Given the description of an element on the screen output the (x, y) to click on. 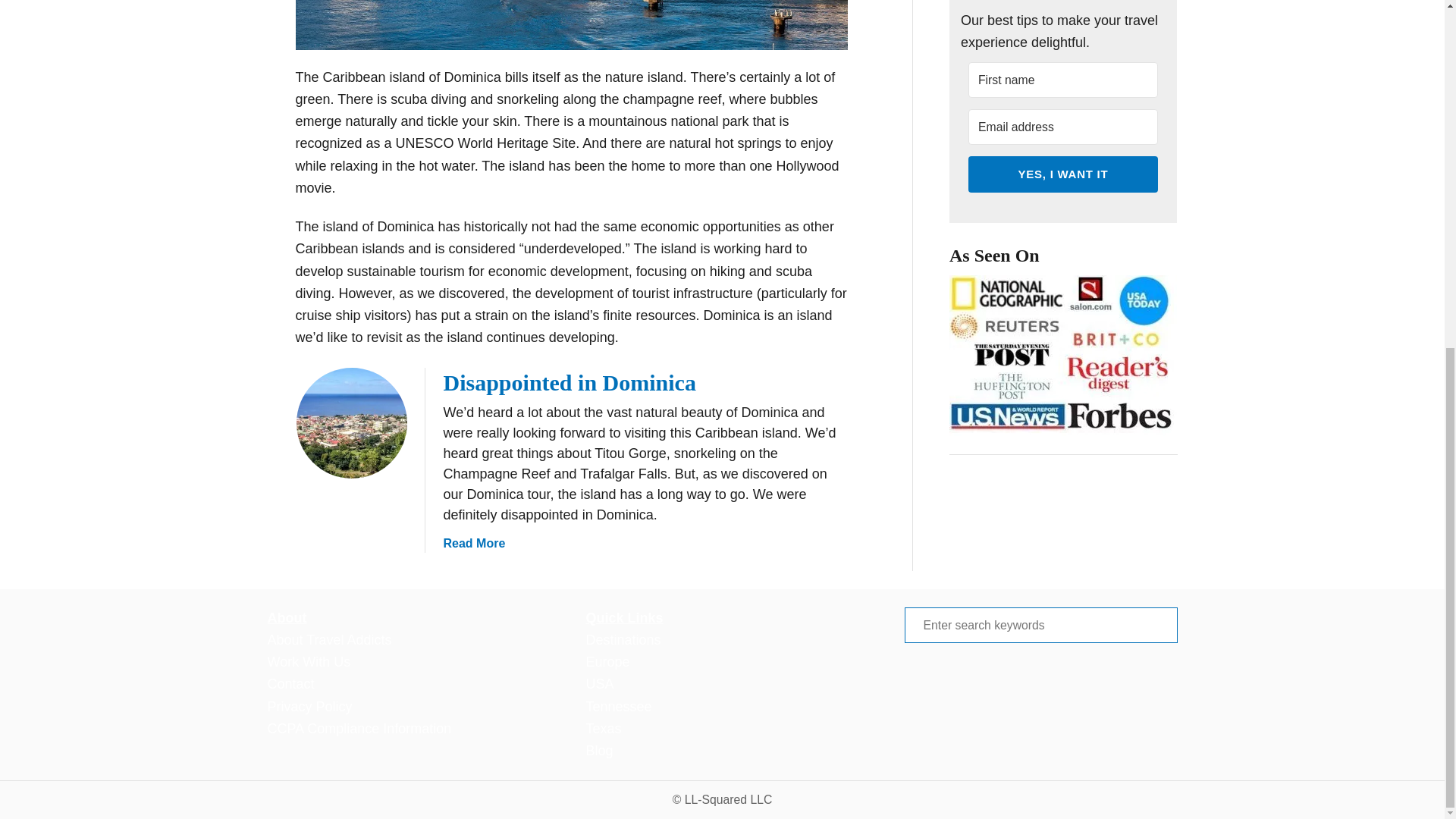
Destinations (623, 639)
About Travel Addicts (328, 639)
Disappointed in Dominica (568, 382)
Search for: (1040, 624)
YES, I WANT IT (1062, 173)
Privacy Policy (309, 706)
Work With Us (308, 661)
Disappointed in Dominica (350, 422)
CCPA Compliance Information (358, 728)
Contact (473, 543)
